Given the description of an element on the screen output the (x, y) to click on. 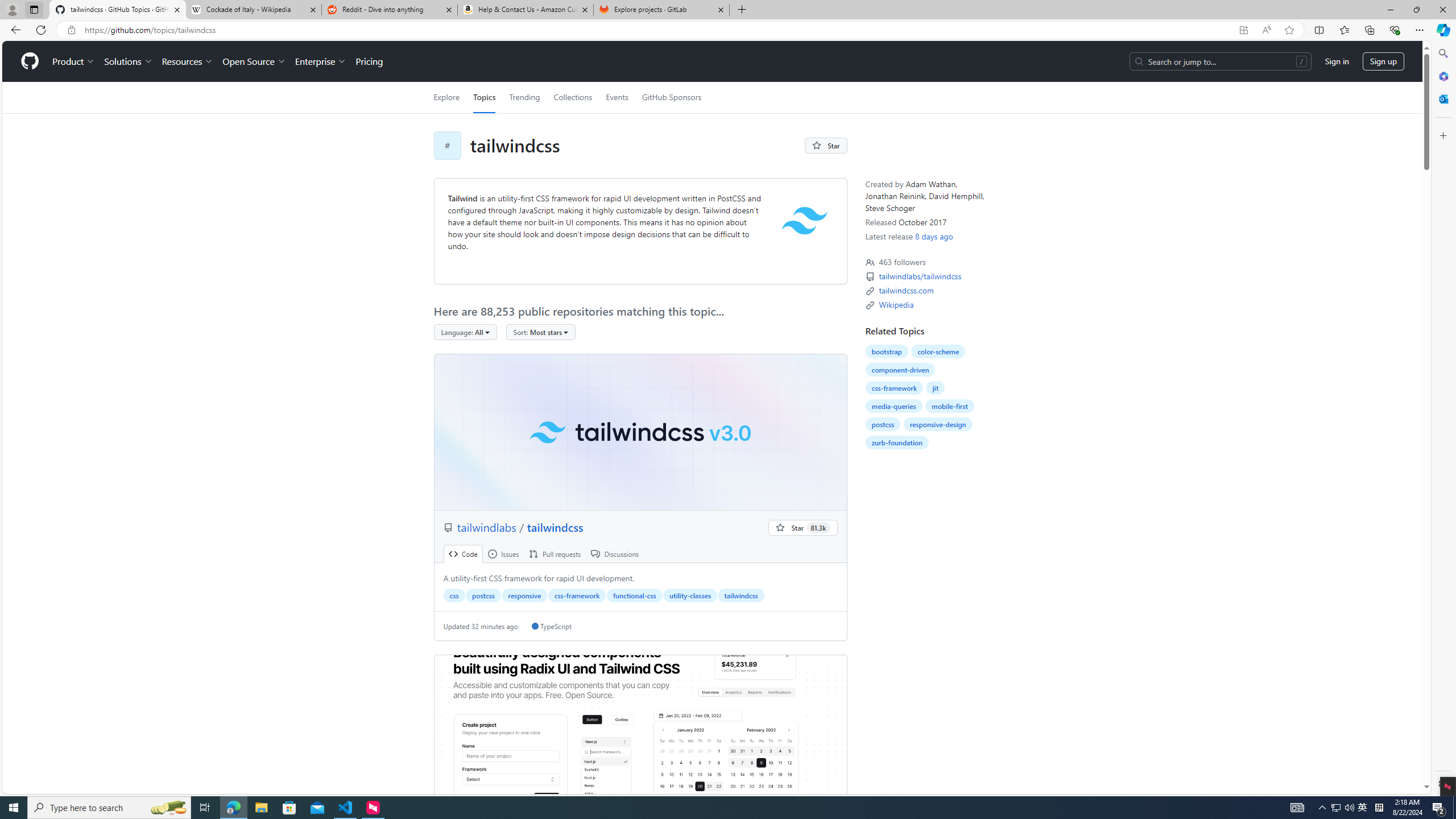
Explore (446, 97)
Topic followers (869, 261)
Topics (484, 97)
 Discussions (615, 553)
tailwindcss (740, 594)
Open Source (254, 60)
Trending (524, 97)
 Discussions (615, 553)
media-queries (893, 405)
css (453, 594)
